Given the description of an element on the screen output the (x, y) to click on. 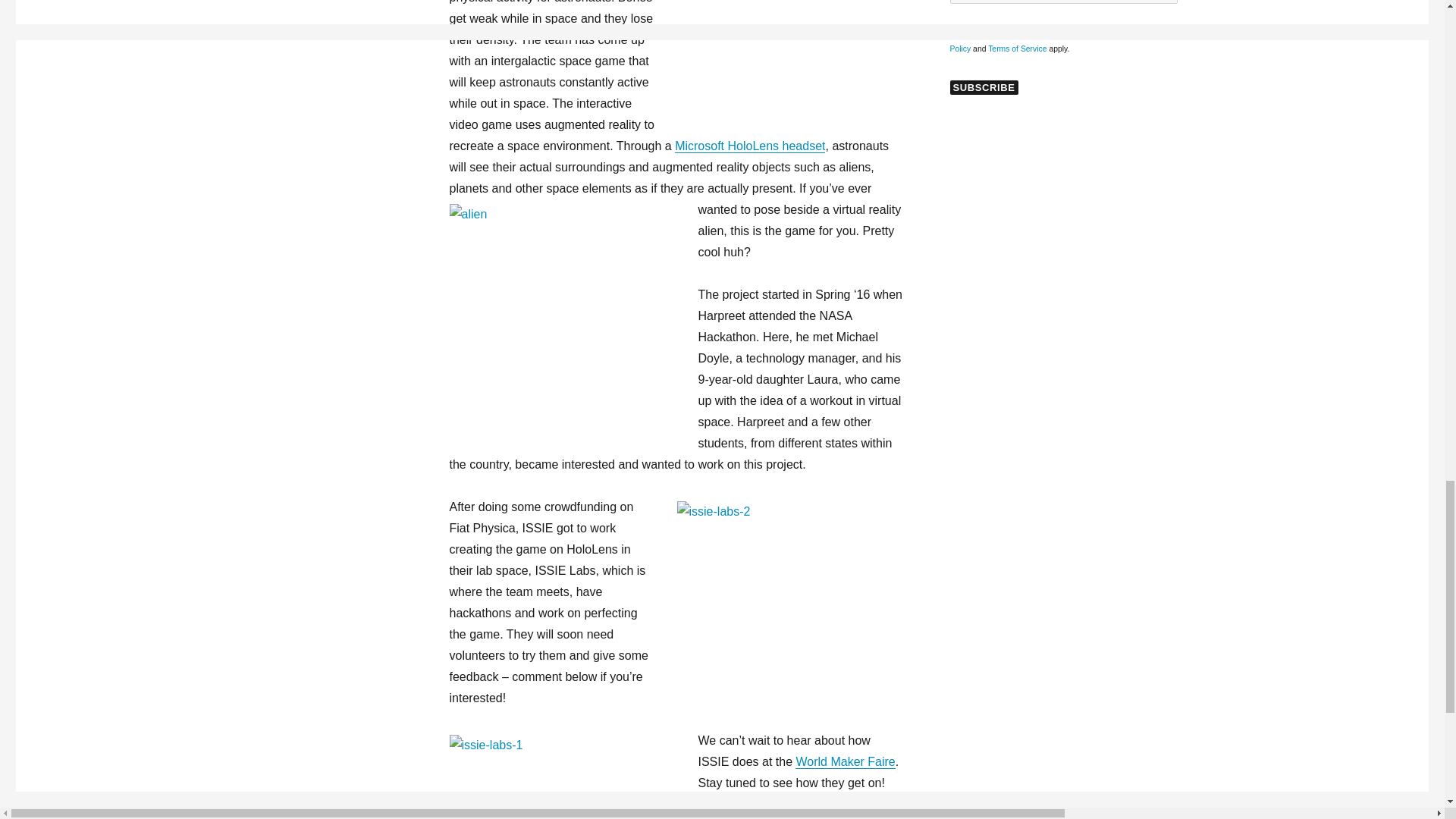
Subscribe (983, 87)
Microsoft HoloLens headset (750, 145)
World Maker Faire (844, 761)
